Given the description of an element on the screen output the (x, y) to click on. 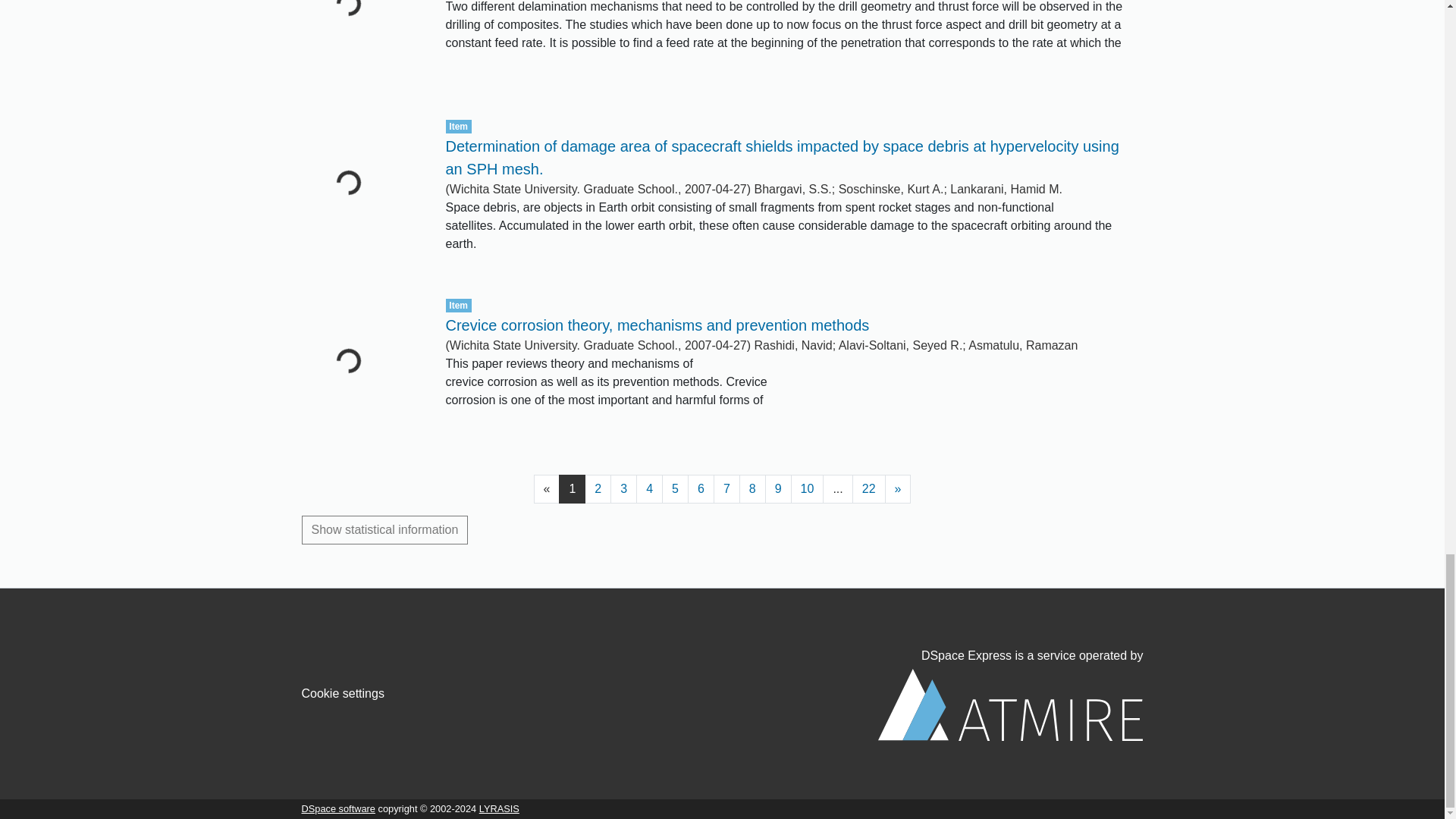
Crevice corrosion theory, mechanisms and prevention methods (657, 324)
Loading... (362, 46)
